Given the description of an element on the screen output the (x, y) to click on. 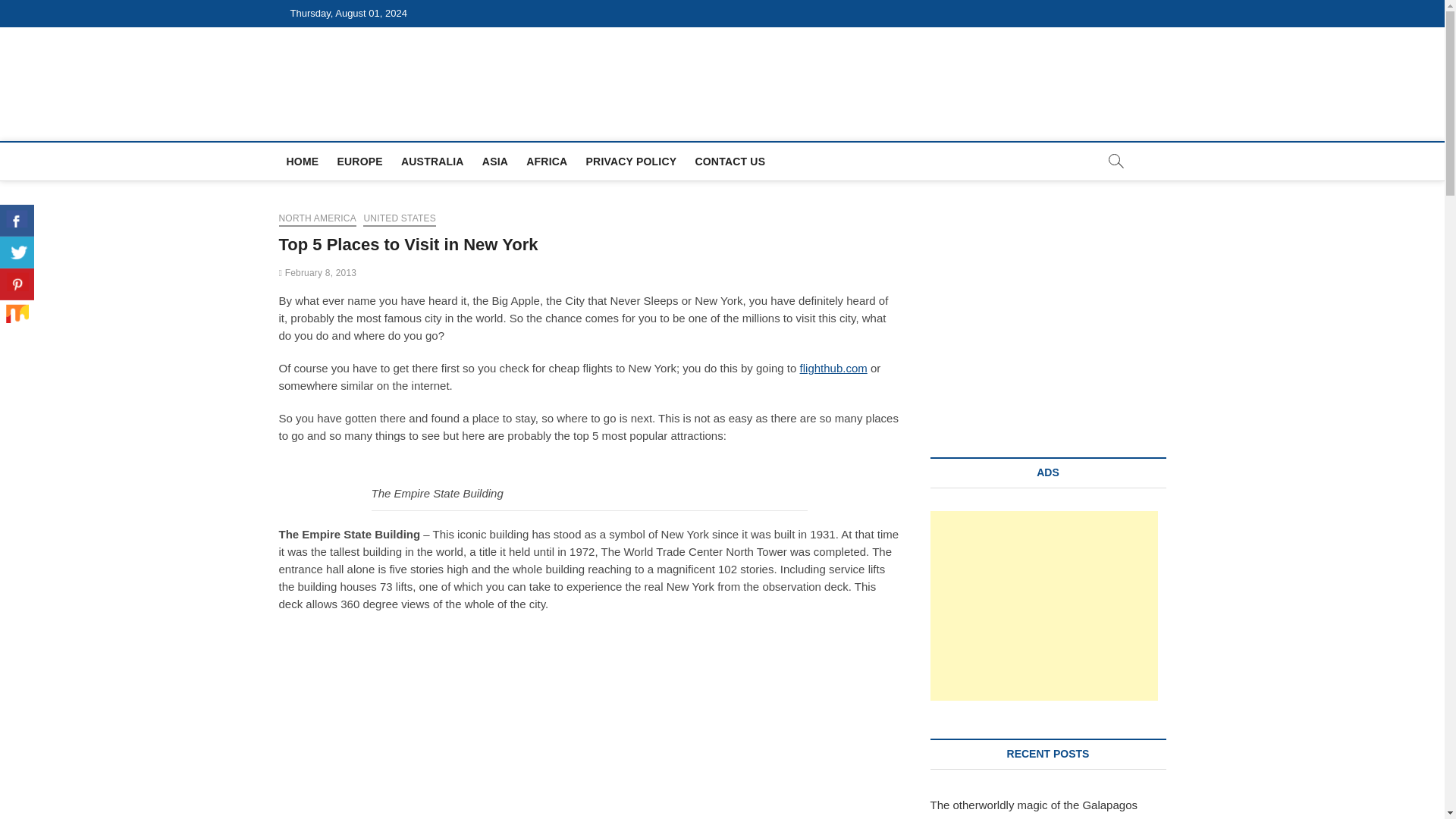
flighthub.com (833, 367)
February 8, 2013 (317, 272)
NORTH AMERICA (317, 219)
CONTACT US (730, 161)
UNITED STATES (398, 219)
AFRICA (546, 161)
The otherworldly magic of the Galapagos (1033, 804)
EUROPE (359, 161)
February 8, 2013 (317, 272)
HOME (302, 161)
AUSTRALIA (432, 161)
Advertisement (1043, 606)
ASIA (494, 161)
PRIVACY POLICY (631, 161)
